Given the description of an element on the screen output the (x, y) to click on. 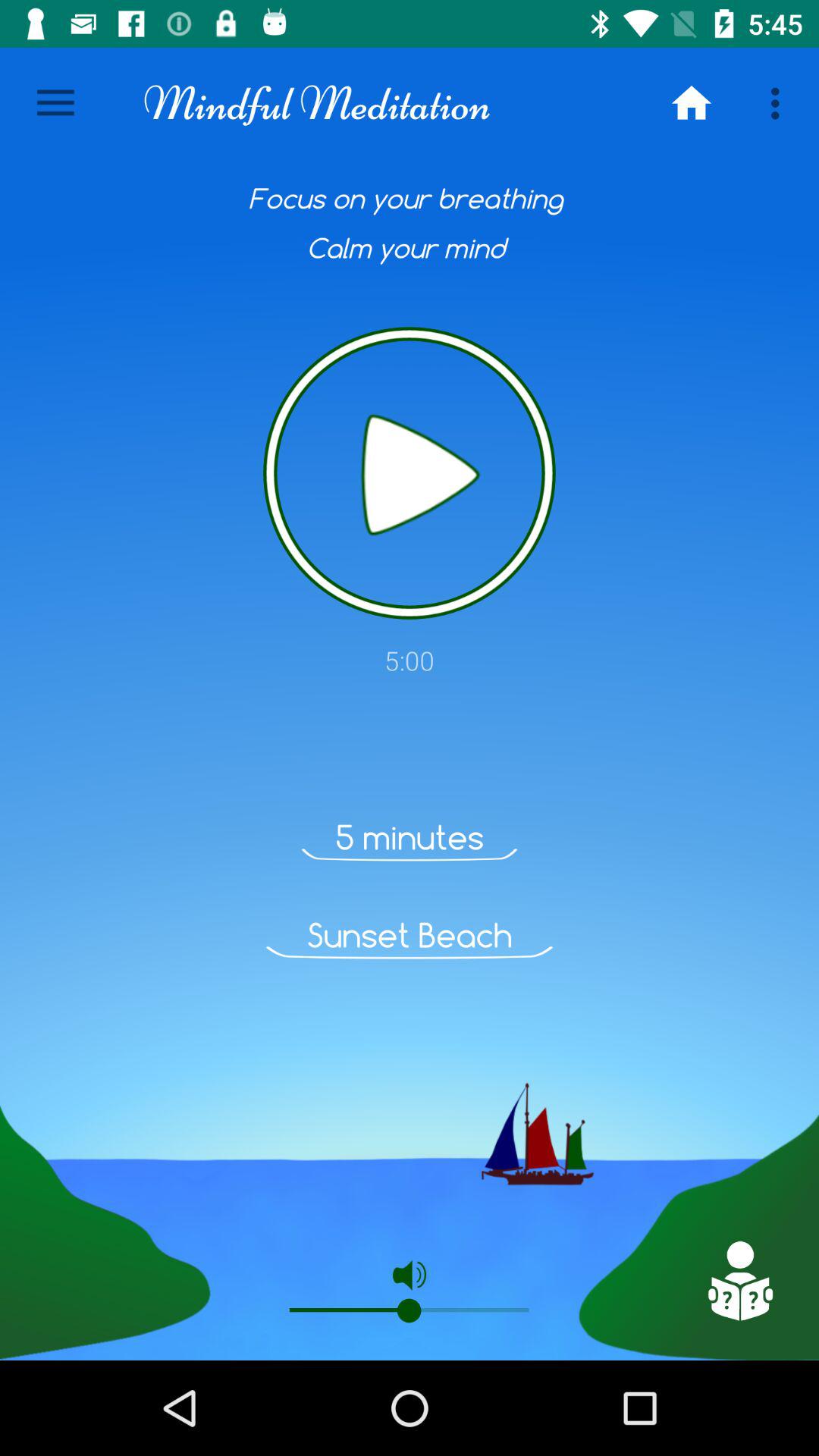
support page (739, 1280)
